Given the description of an element on the screen output the (x, y) to click on. 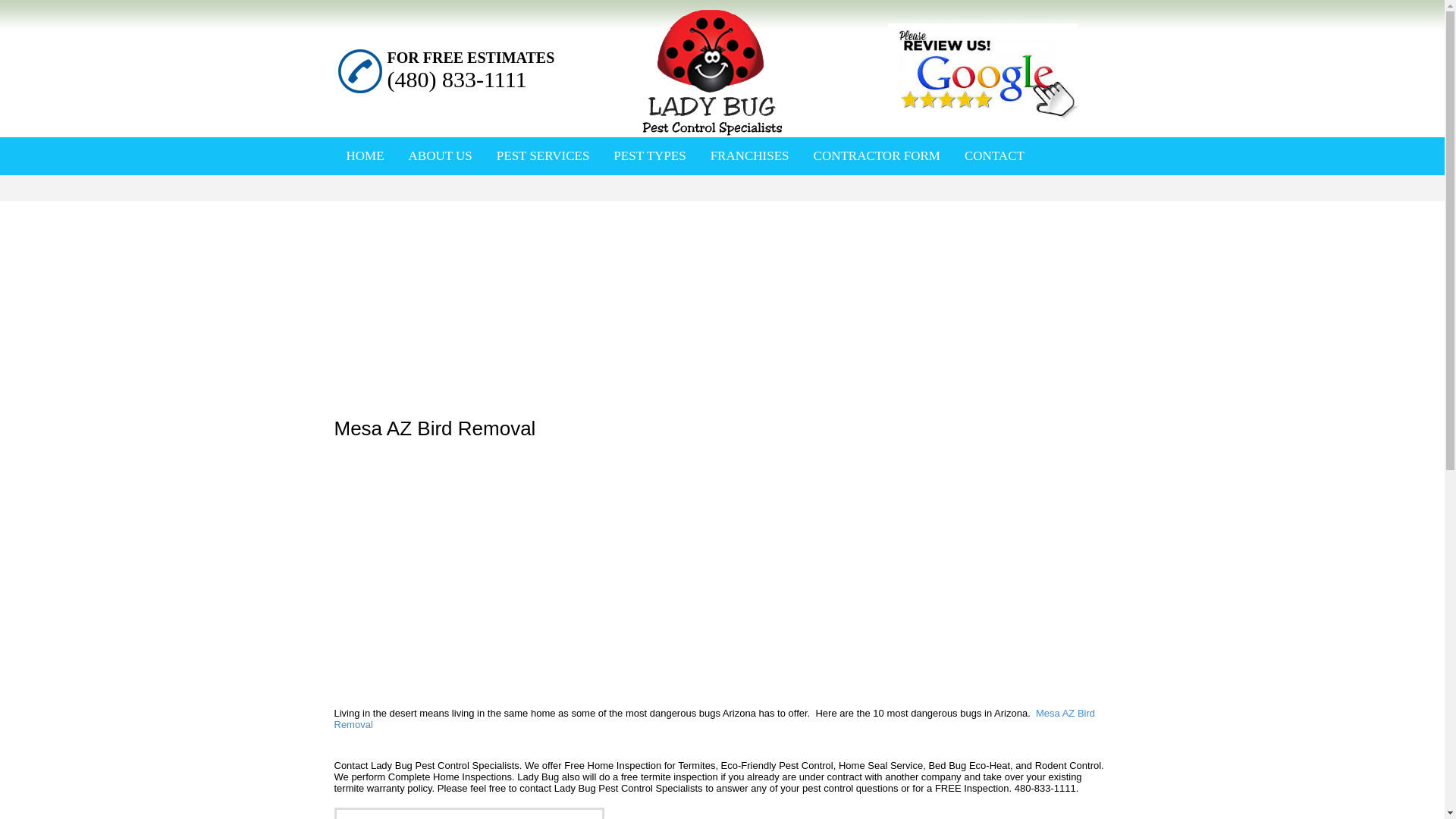
VIDEOS (454, 194)
CONTACT (994, 155)
HOME (364, 155)
CONTRACTOR FORM (876, 155)
FRANCHISES (749, 155)
  Mesa AZ Bird Removal (713, 718)
PEST SERVICES (542, 155)
PEST TYPES (649, 155)
ARTICLES (375, 194)
ABOUT US (440, 155)
